Given the description of an element on the screen output the (x, y) to click on. 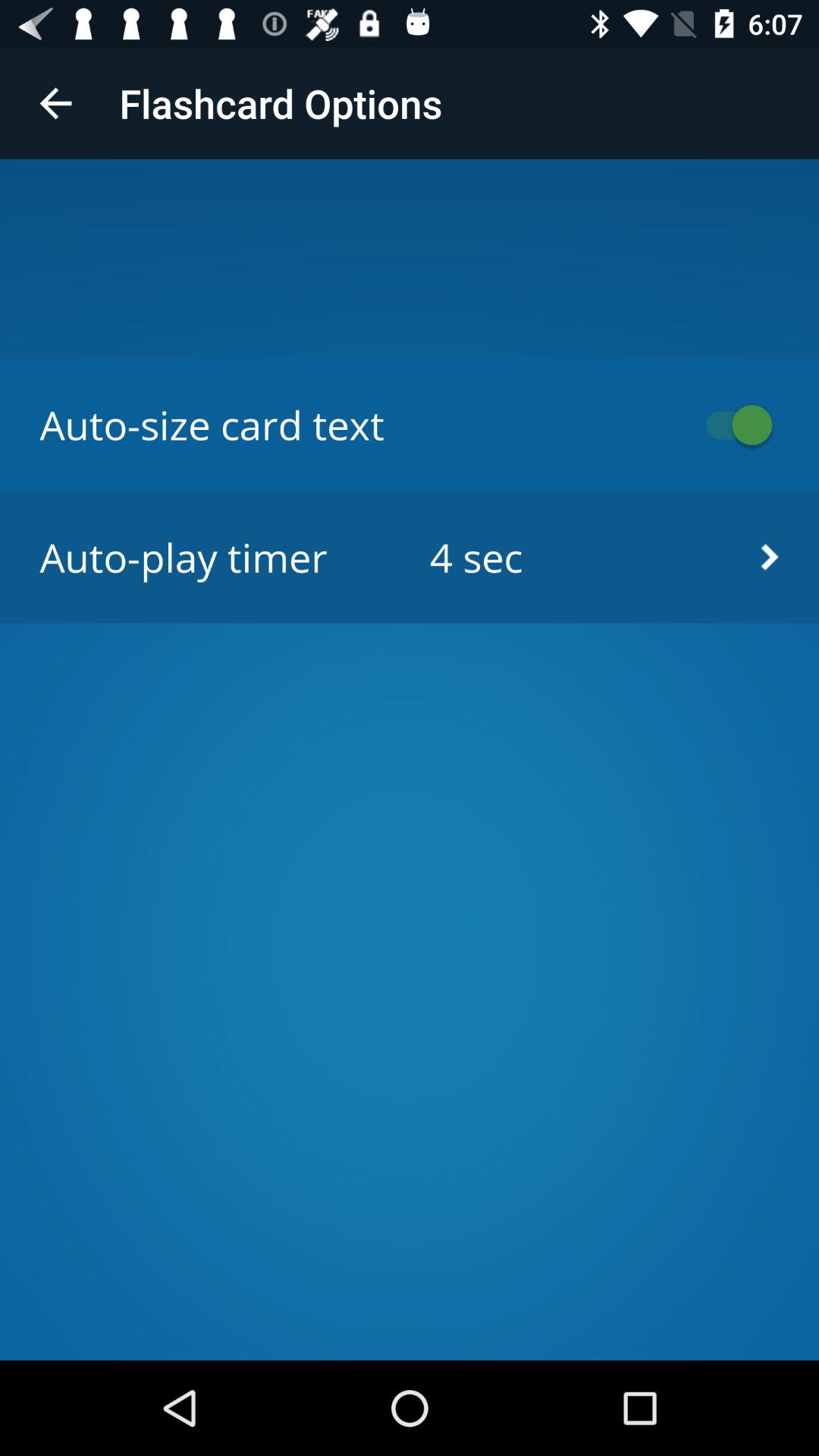
choose the item at the top left corner (55, 103)
